Given the description of an element on the screen output the (x, y) to click on. 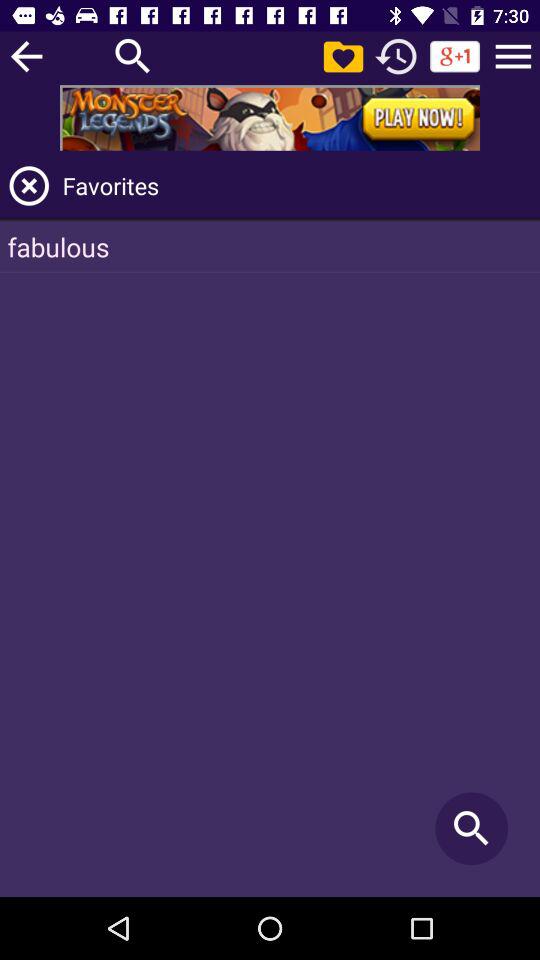
open up menu (513, 56)
